Given the description of an element on the screen output the (x, y) to click on. 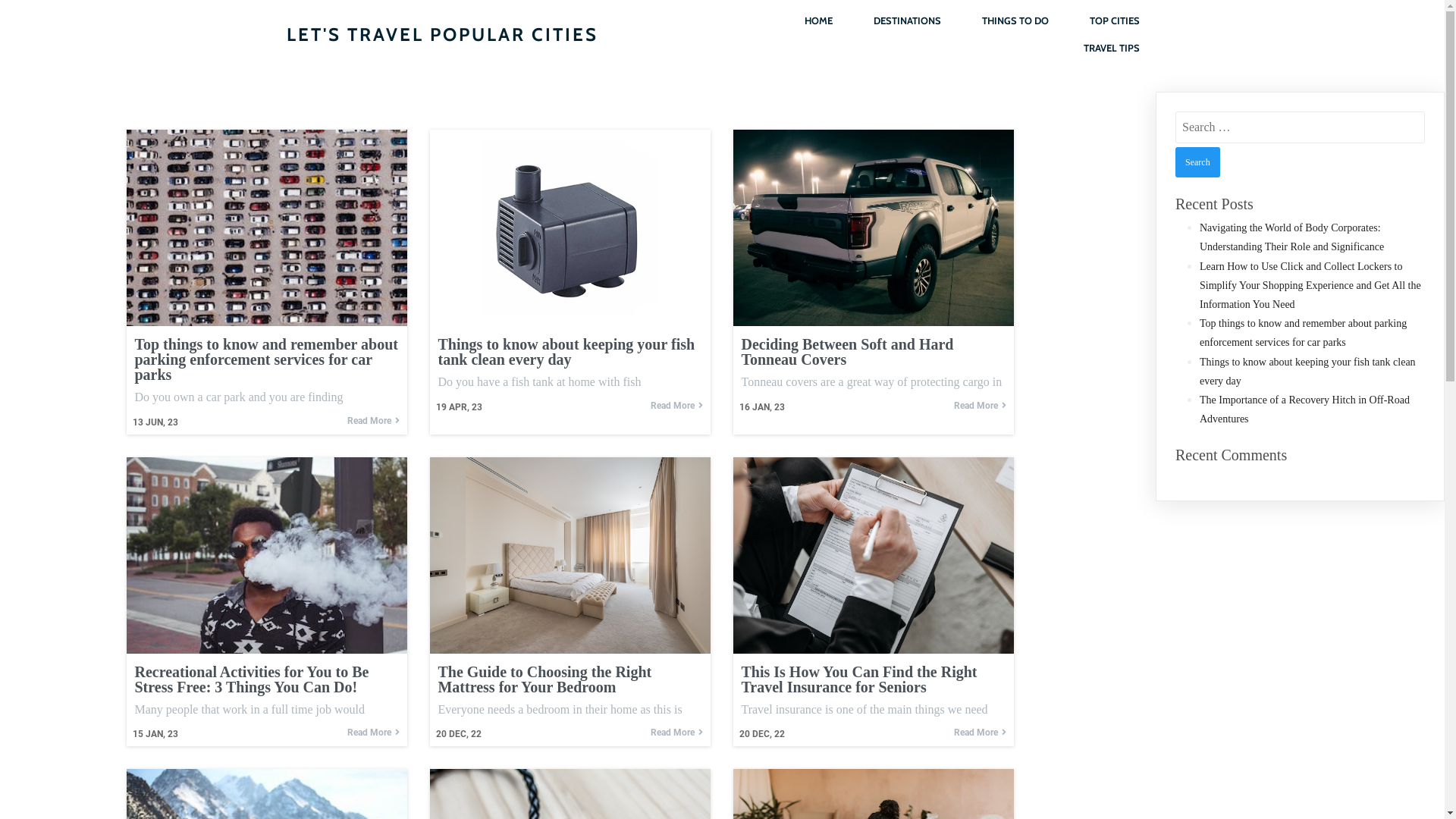
TRAVEL TIPS Element type: text (1111, 48)
Read More Element type: text (676, 732)
The Importance of a Recovery Hitch in Off-Road Adventures Element type: text (1304, 409)
Read More Element type: text (979, 732)
HOME Element type: text (818, 20)
Things to know about keeping your fish tank clean every day Element type: text (569, 351)
Read More Element type: text (373, 420)
DESTINATIONS Element type: text (906, 20)
Read More Element type: text (676, 405)
Deciding Between Soft and Hard Tonneau Covers Element type: text (873, 351)
TOP CITIES Element type: text (1114, 20)
Things to know about keeping your fish tank clean every day Element type: text (1307, 371)
Search Element type: text (1197, 162)
The Guide to Choosing the Right Mattress for Your Bedroom Element type: text (569, 679)
LET'S TRAVEL POPULAR CITIES Element type: text (500, 34)
Read More Element type: text (979, 405)
Read More Element type: text (373, 732)
THINGS TO DO Element type: text (1015, 20)
